Given the description of an element on the screen output the (x, y) to click on. 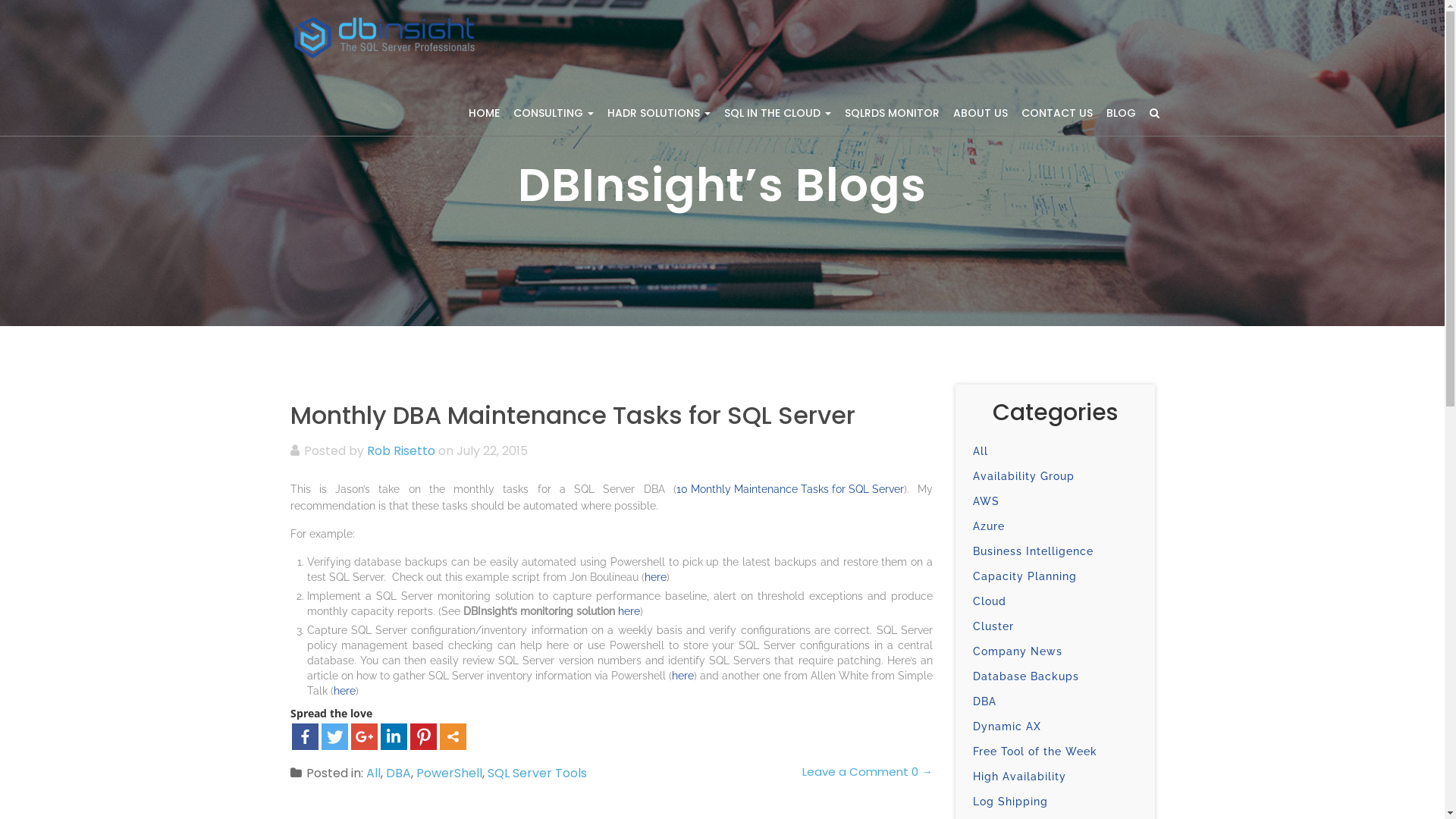
10 Monthly Maintenance Tasks for SQL Server Element type: text (789, 488)
Facebook Element type: hover (304, 736)
SQL Server Tools Element type: text (536, 772)
Cloud Element type: text (989, 600)
Log Shipping Element type: text (1010, 801)
HOME Element type: text (483, 112)
here Element type: text (628, 610)
here Element type: text (344, 690)
Google plus Element type: hover (363, 736)
Azure Element type: text (988, 525)
Rob Risetto Element type: text (401, 450)
PowerShell Element type: text (448, 772)
Availability Group Element type: text (1023, 475)
ABOUT US Element type: text (980, 112)
here Element type: text (655, 576)
Free Tool of the Week Element type: text (1034, 751)
<i class="fa fa-search"></i> Element type: hover (1153, 112)
SQL IN THE CLOUD Element type: text (777, 112)
Pinterest Element type: hover (422, 736)
DBA Element type: text (397, 772)
Linkedin Element type: hover (393, 736)
CONTACT US Element type: text (1056, 112)
More Element type: hover (452, 736)
here Element type: text (682, 675)
AWS Element type: text (985, 500)
High Availability Element type: text (1019, 776)
Business Intelligence Element type: text (1032, 550)
Capacity Planning Element type: text (1024, 575)
DBA Element type: text (984, 701)
Dynamic AX Element type: text (1006, 726)
Cluster Element type: text (992, 626)
All Element type: text (372, 772)
Company News Element type: text (1017, 651)
Twitter Element type: hover (334, 736)
BLOG Element type: text (1120, 112)
All Element type: text (980, 450)
HADR SOLUTIONS Element type: text (658, 112)
CONSULTING Element type: text (553, 112)
Database Backups Element type: text (1025, 676)
SQLRDS MONITOR Element type: text (891, 112)
